Given the description of an element on the screen output the (x, y) to click on. 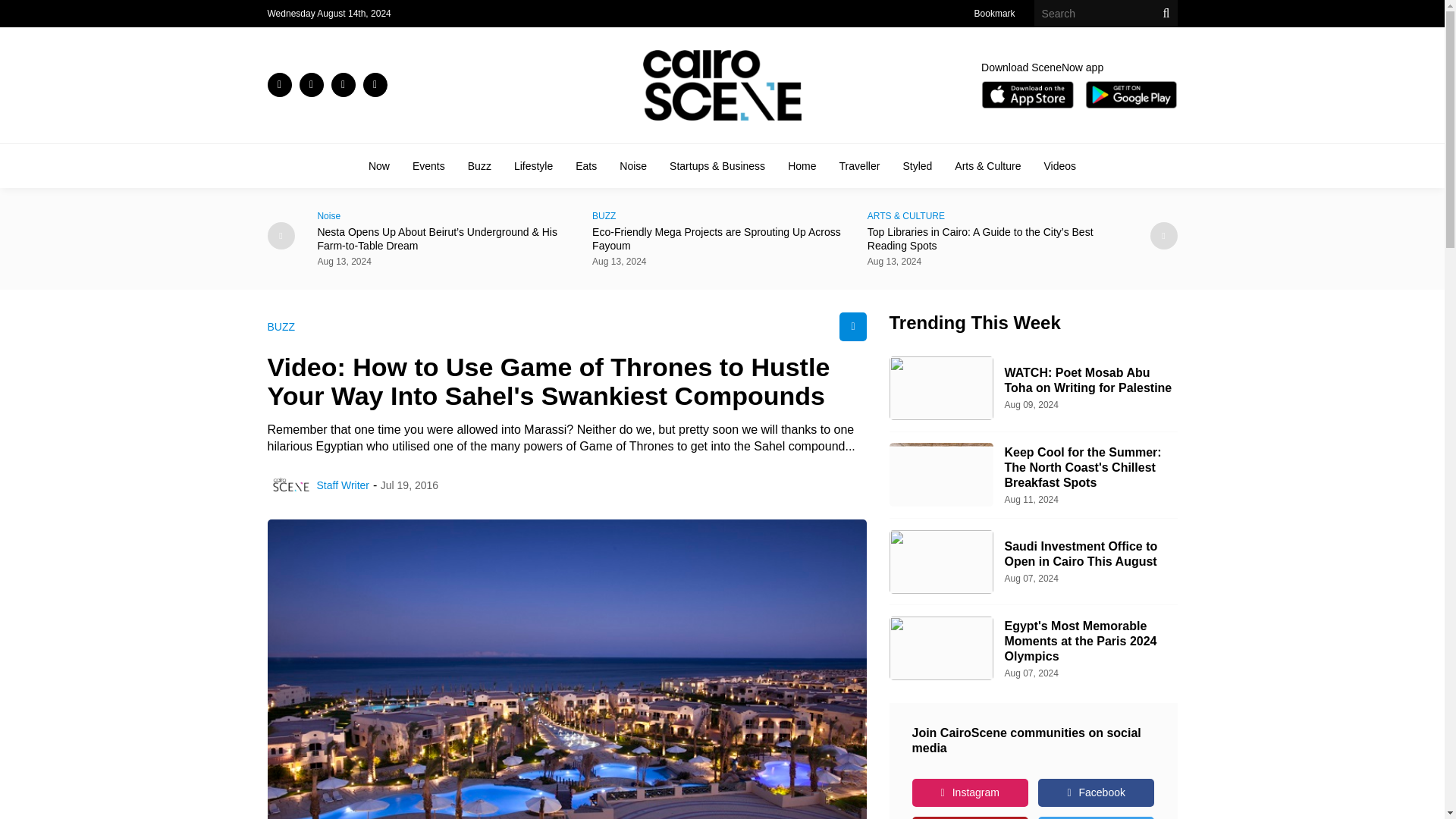
BUZZ (721, 215)
Eco-Friendly Mega Projects are Sprouting Up Across Fayoum (721, 238)
Traveller (858, 165)
Events (428, 165)
Noise (446, 215)
Lifestyle (533, 165)
Home (801, 165)
Noise (633, 165)
Buzz (479, 165)
Styled (916, 165)
